Given the description of an element on the screen output the (x, y) to click on. 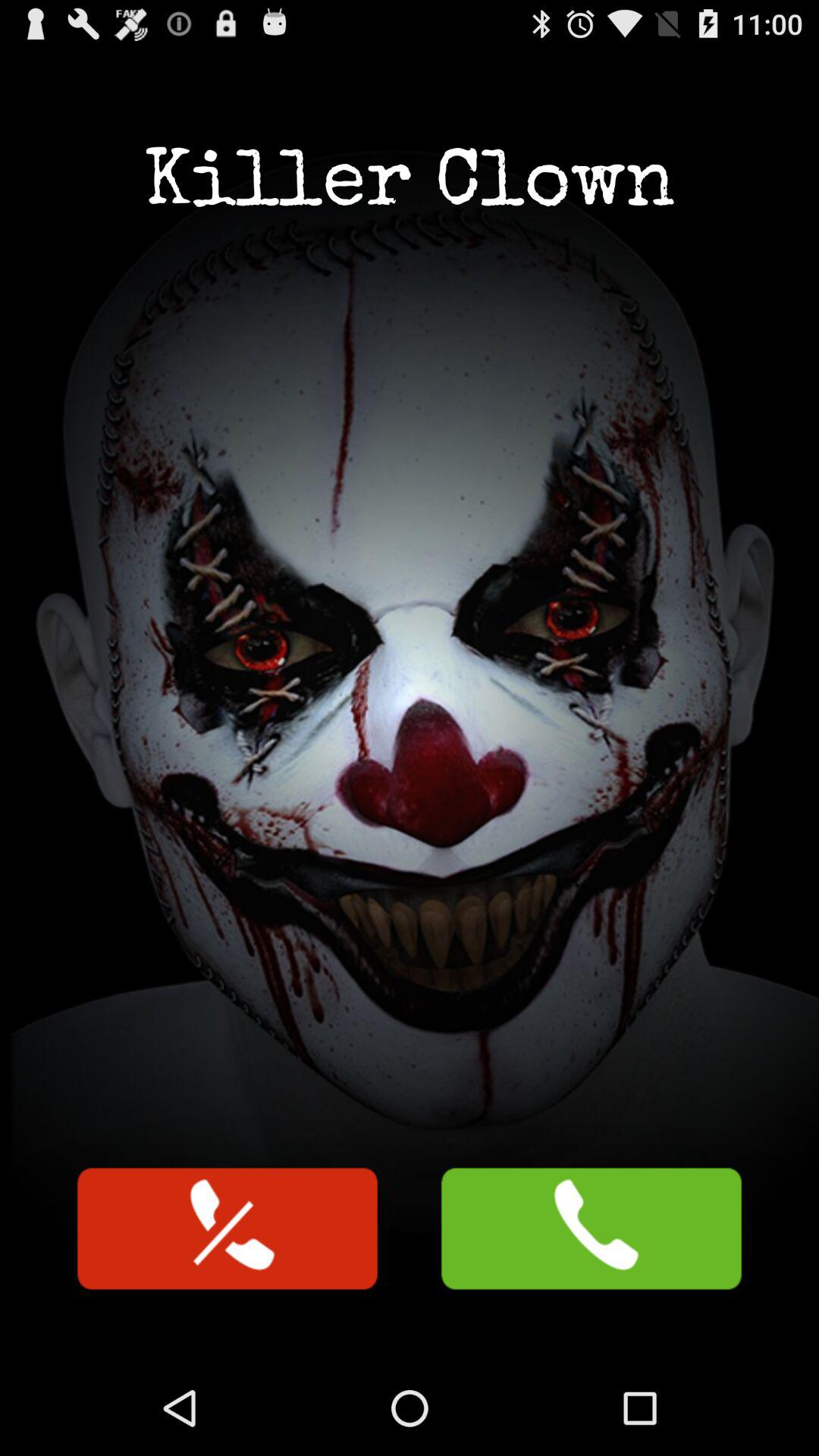
answer phone (591, 1228)
